Given the description of an element on the screen output the (x, y) to click on. 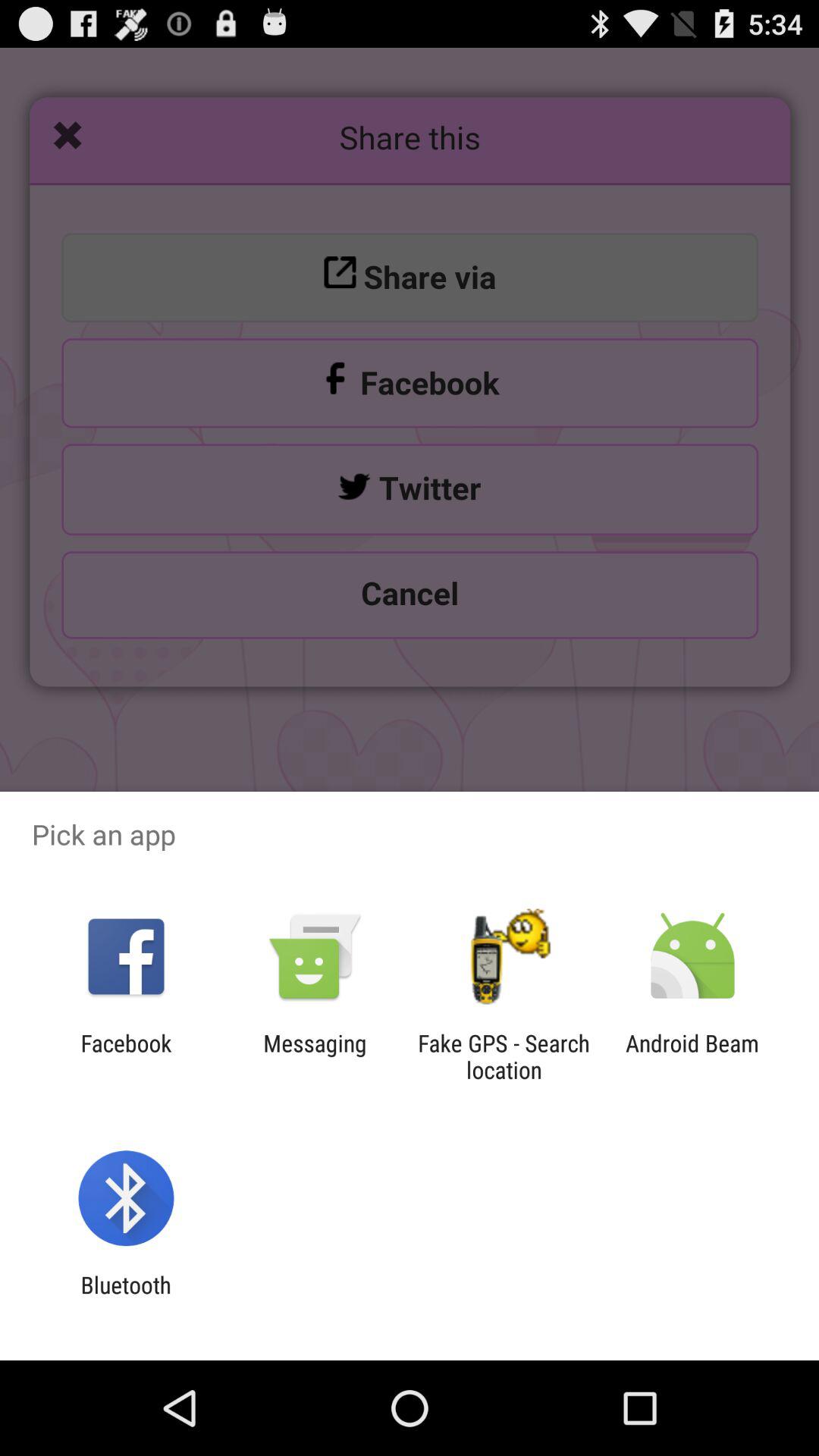
jump to fake gps search item (503, 1056)
